Given the description of an element on the screen output the (x, y) to click on. 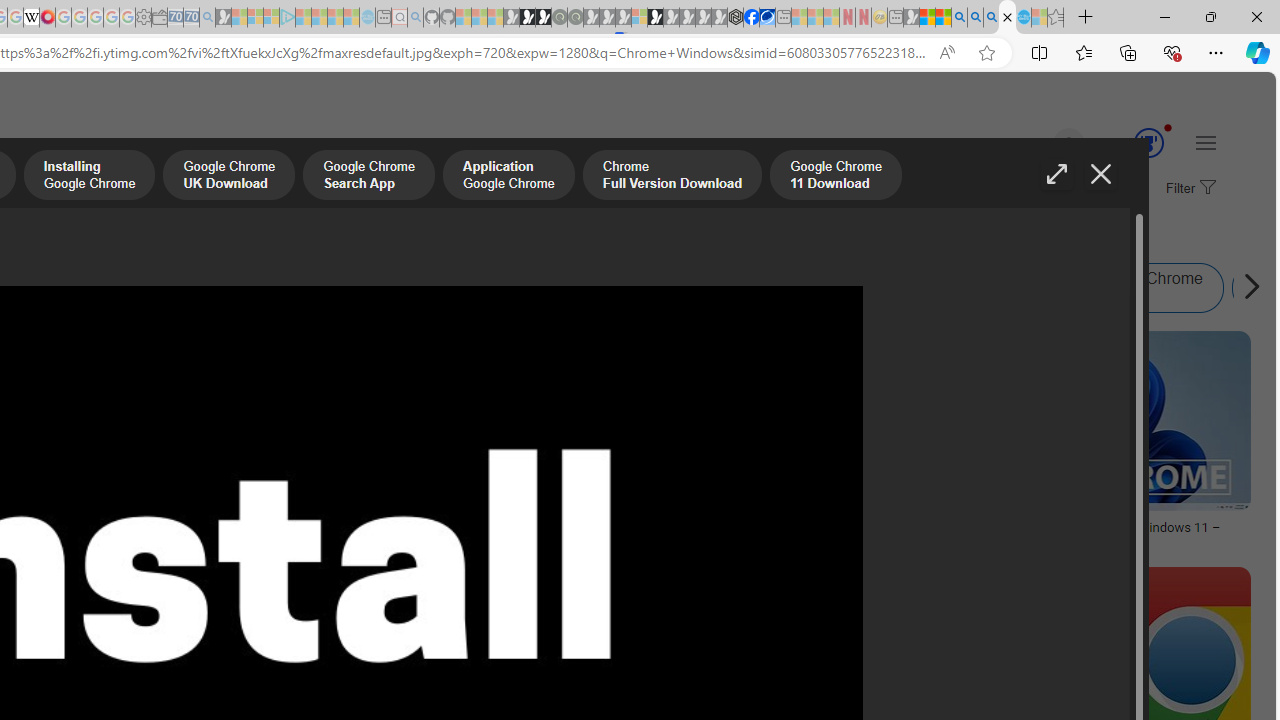
Chromebook Accessories (260, 400)
Chrome OS Windows (468, 287)
Animation (1167, 127)
Chrome Full Version Download (671, 177)
Settings - Sleeping (143, 17)
Scroll right (1246, 287)
github - Search - Sleeping (415, 17)
OS Laptops (260, 460)
Chrome Download for Windows 8 (587, 287)
Google Chrome UK Download (228, 177)
Read aloud this page (Ctrl+Shift+U) (946, 53)
